Given the description of an element on the screen output the (x, y) to click on. 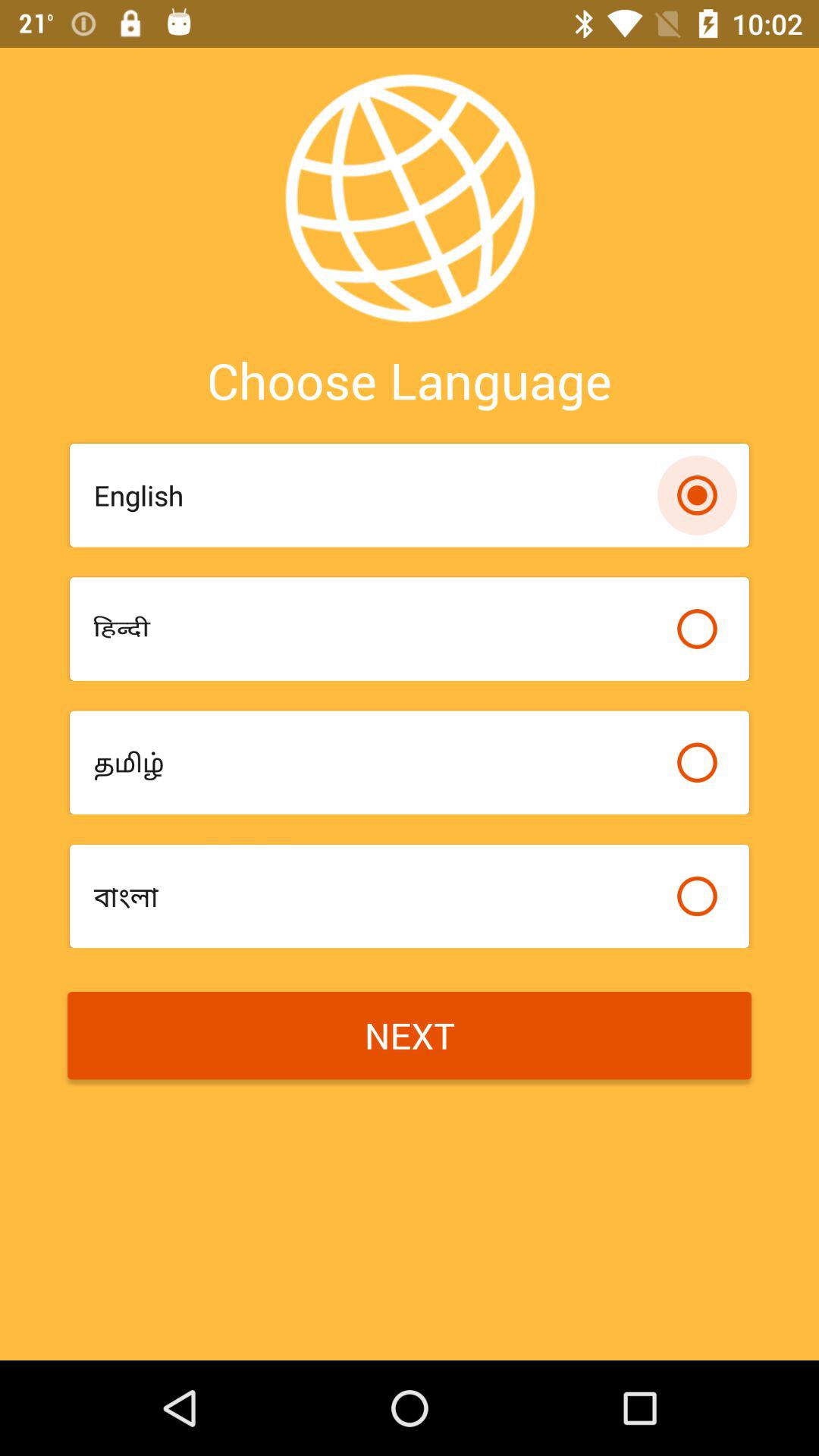
open the next (409, 1035)
